Given the description of an element on the screen output the (x, y) to click on. 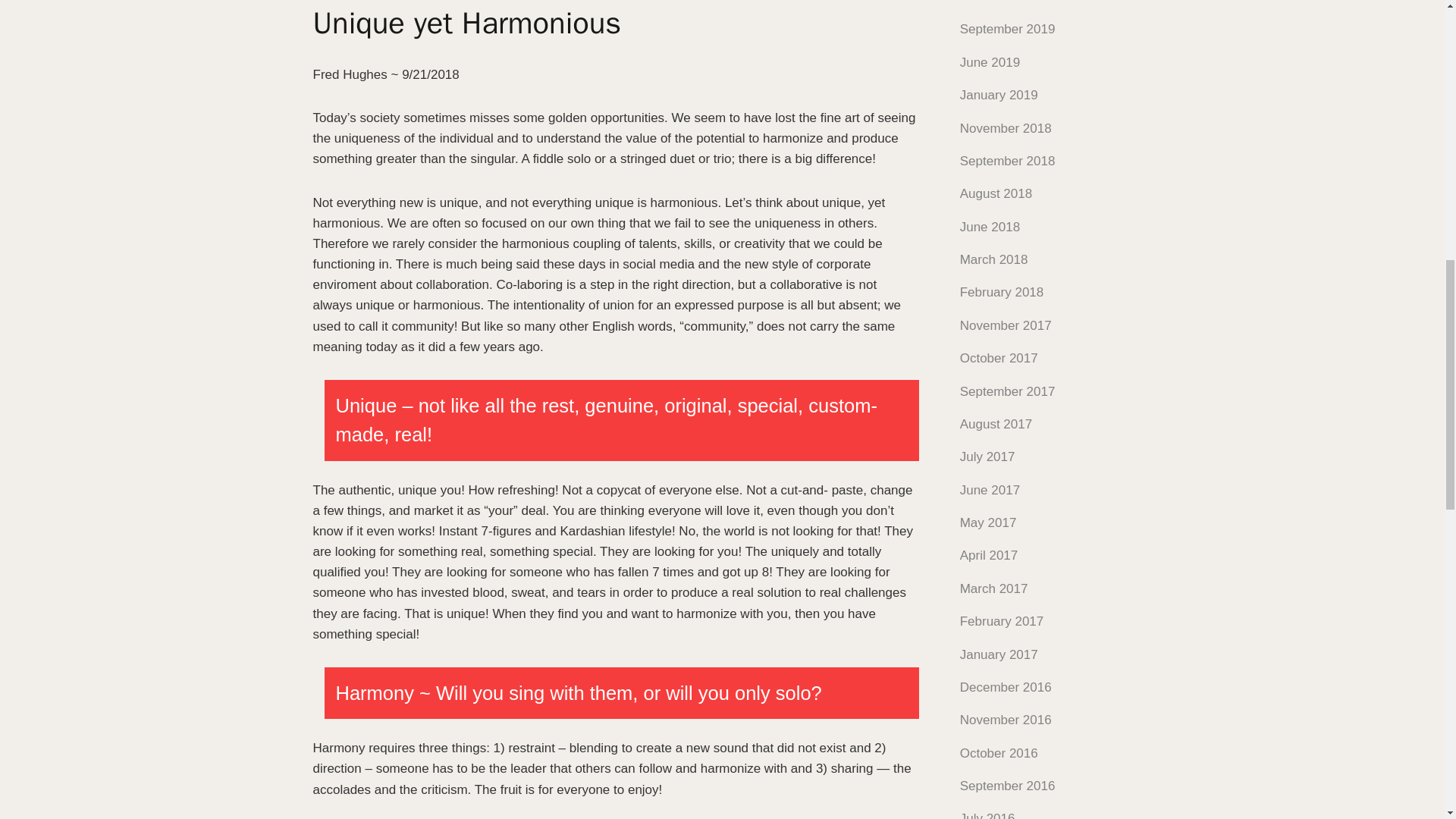
November 2018 (1005, 128)
January 2019 (998, 94)
September 2019 (1007, 29)
June 2019 (989, 62)
